Given the description of an element on the screen output the (x, y) to click on. 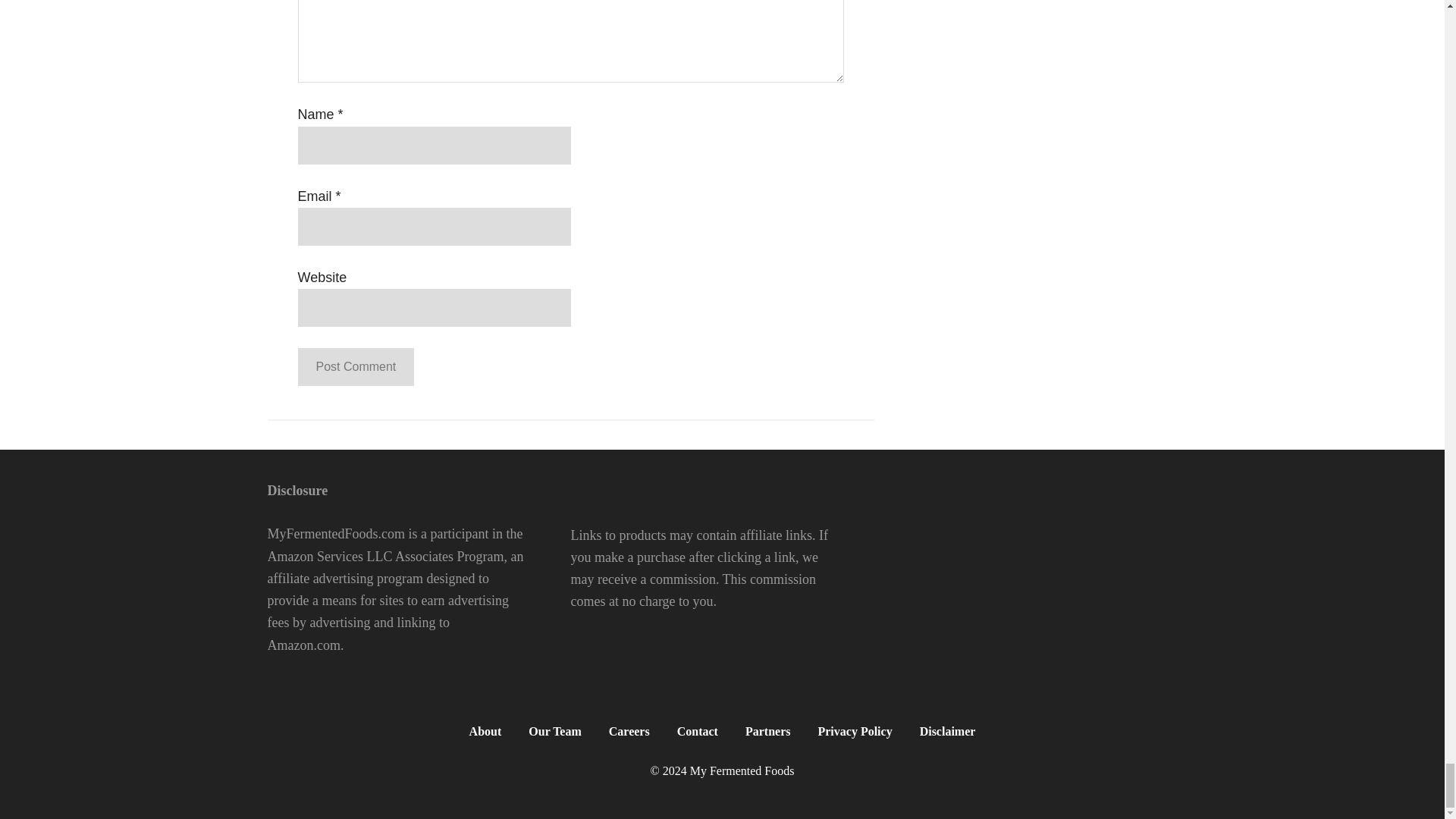
Post Comment (355, 366)
